Given the description of an element on the screen output the (x, y) to click on. 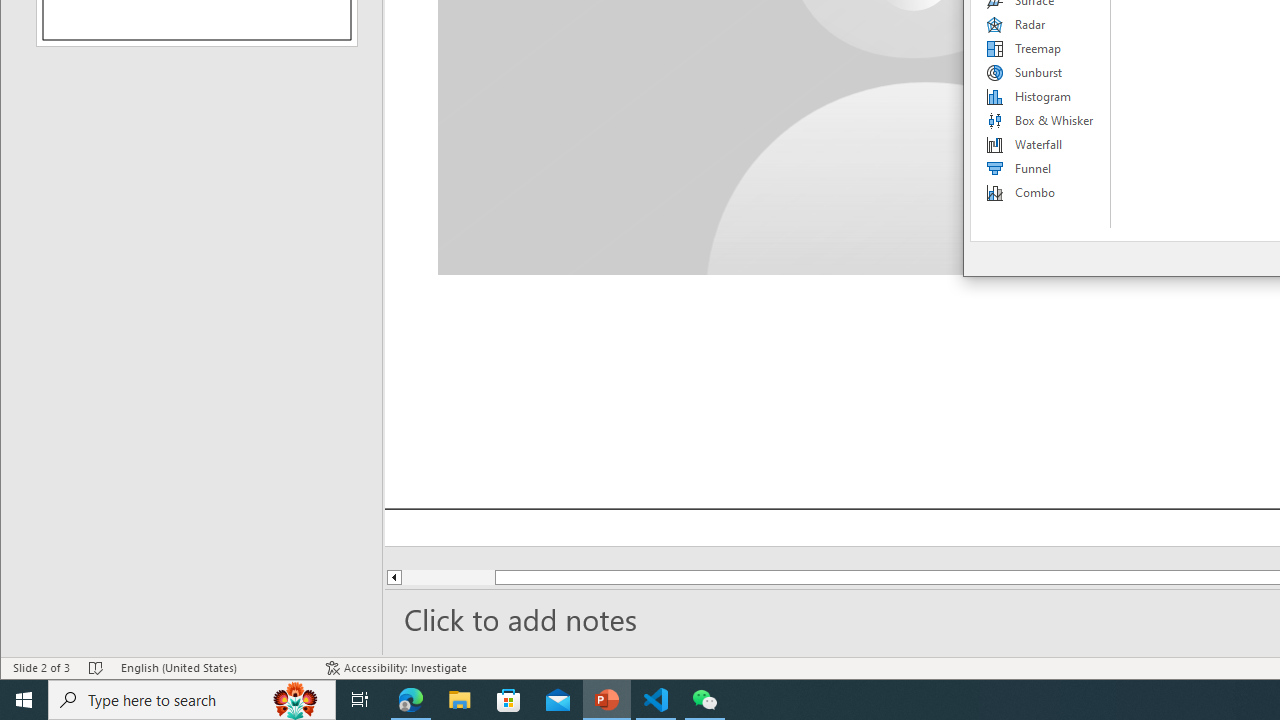
Waterfall (1041, 144)
Combo (1041, 192)
Treemap (1041, 48)
